Given the description of an element on the screen output the (x, y) to click on. 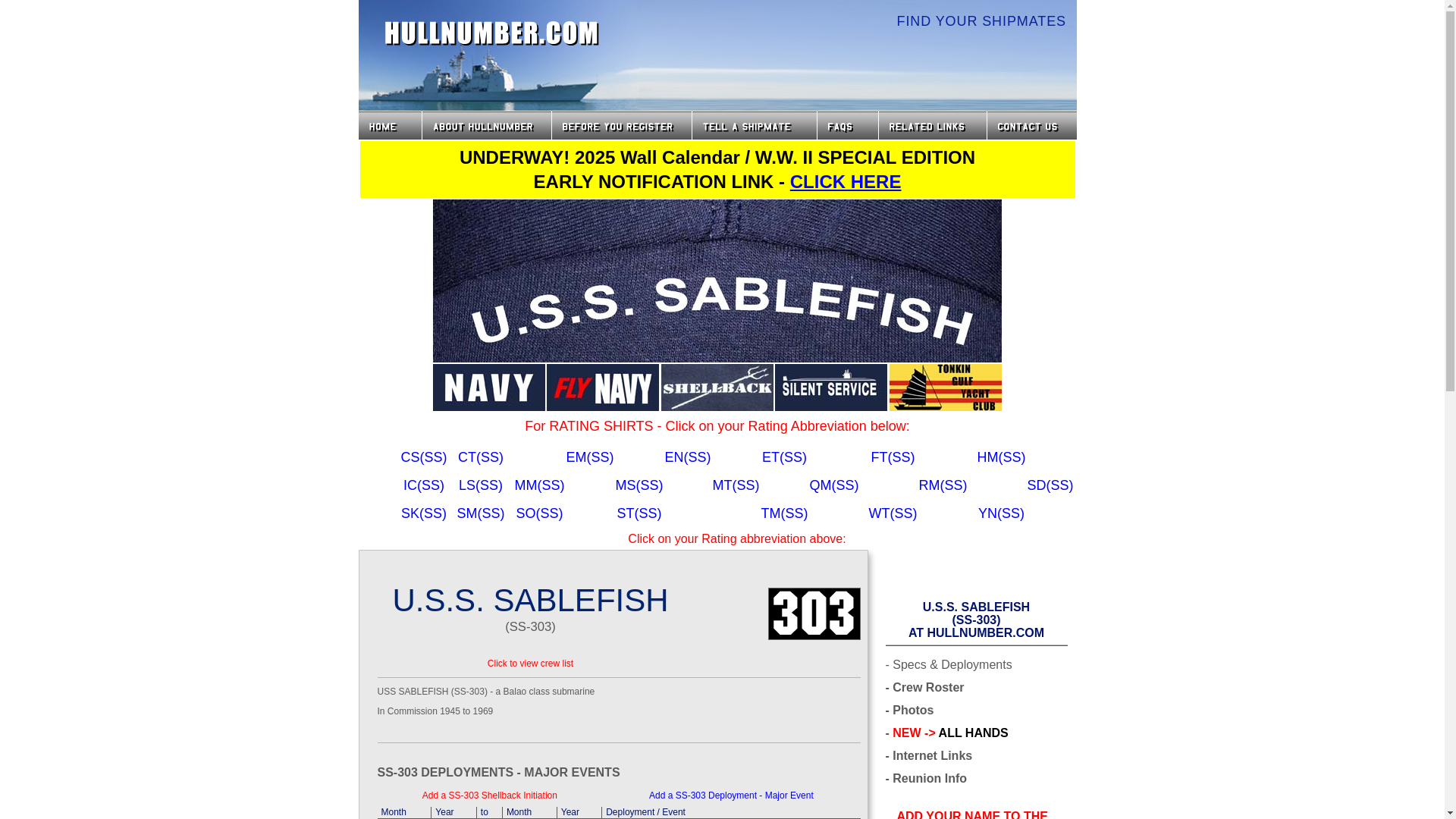
- Internet Links (928, 756)
FAQs (846, 125)
Home (389, 125)
Before you Register (621, 125)
Tell a Shipmate (753, 125)
Related Links (931, 125)
Add a SS-303 Shellback Initiation (489, 795)
HullNumber.com (491, 33)
Add a SS-303 Deployment - Major Event (731, 795)
Contact Us (1033, 125)
- Crew Roster (924, 687)
- Reunion Info (971, 814)
About HullNumber (926, 778)
Click to view crew list (486, 125)
